Given the description of an element on the screen output the (x, y) to click on. 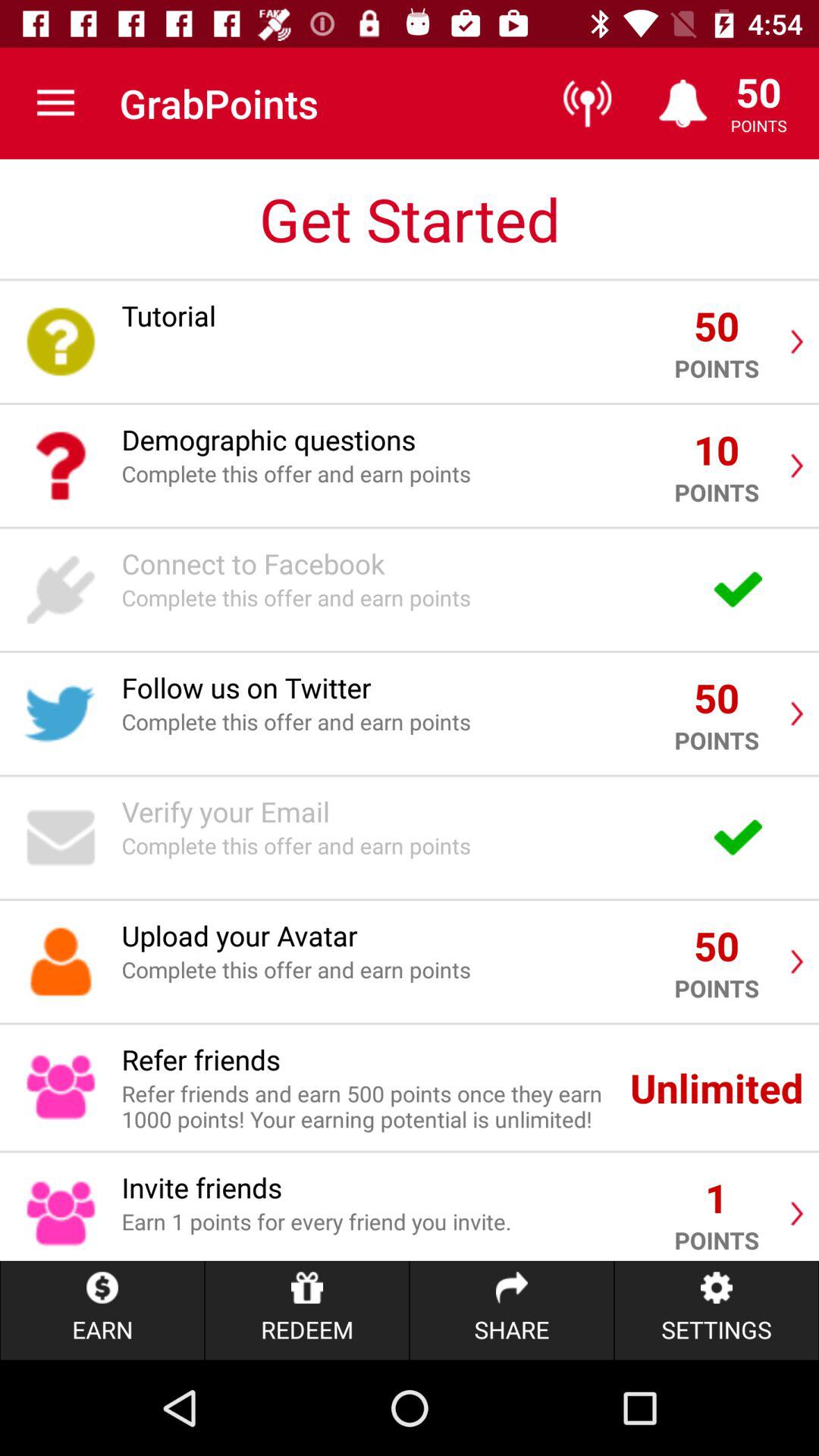
swipe to the redeem icon (306, 1310)
